Given the description of an element on the screen output the (x, y) to click on. 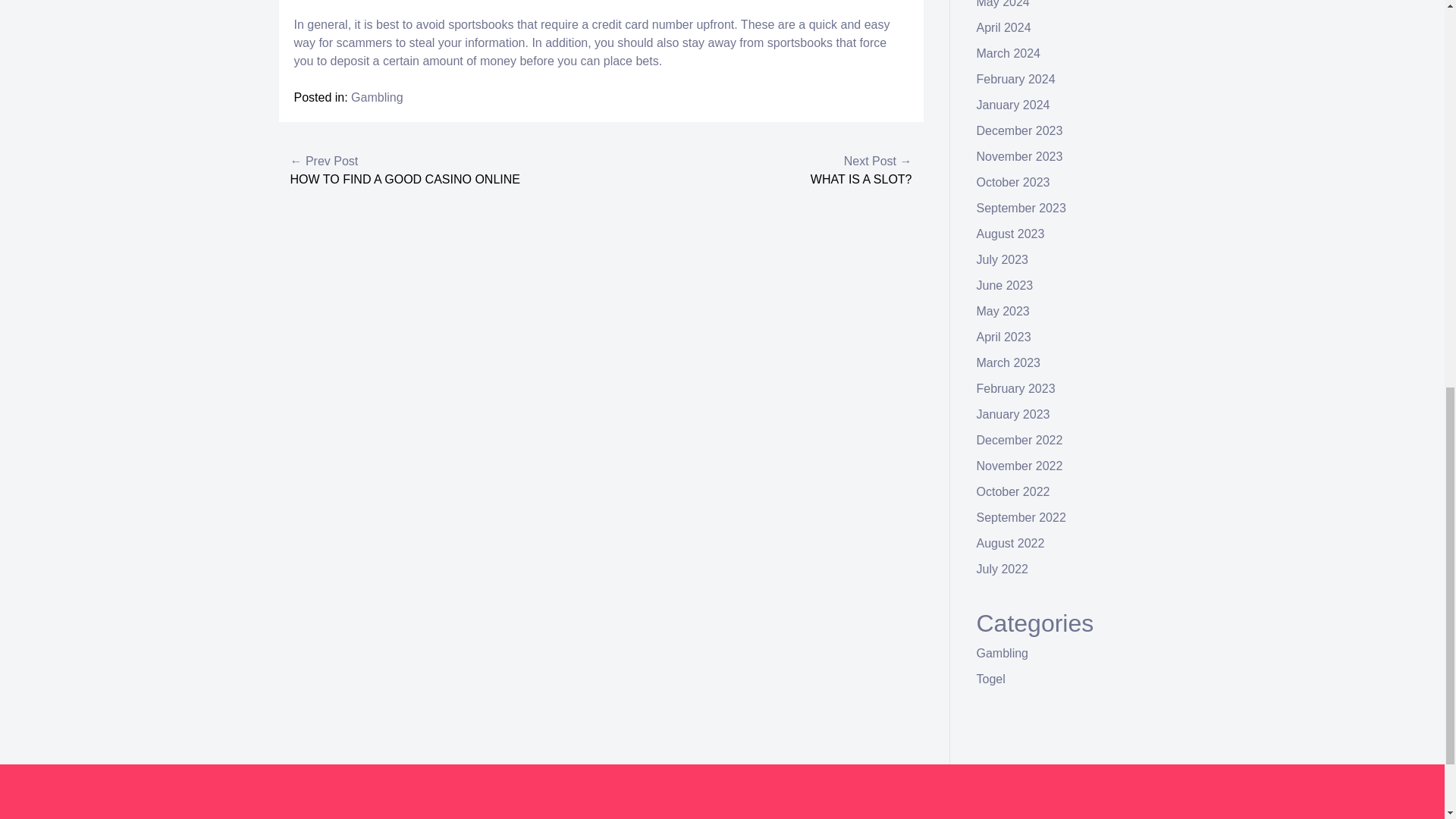
March 2023 (1008, 362)
July 2023 (1002, 259)
December 2023 (1019, 130)
April 2024 (1003, 27)
February 2024 (1015, 78)
October 2023 (1012, 182)
Gambling (376, 97)
March 2024 (1008, 52)
November 2023 (1019, 155)
April 2023 (1003, 336)
